Given the description of an element on the screen output the (x, y) to click on. 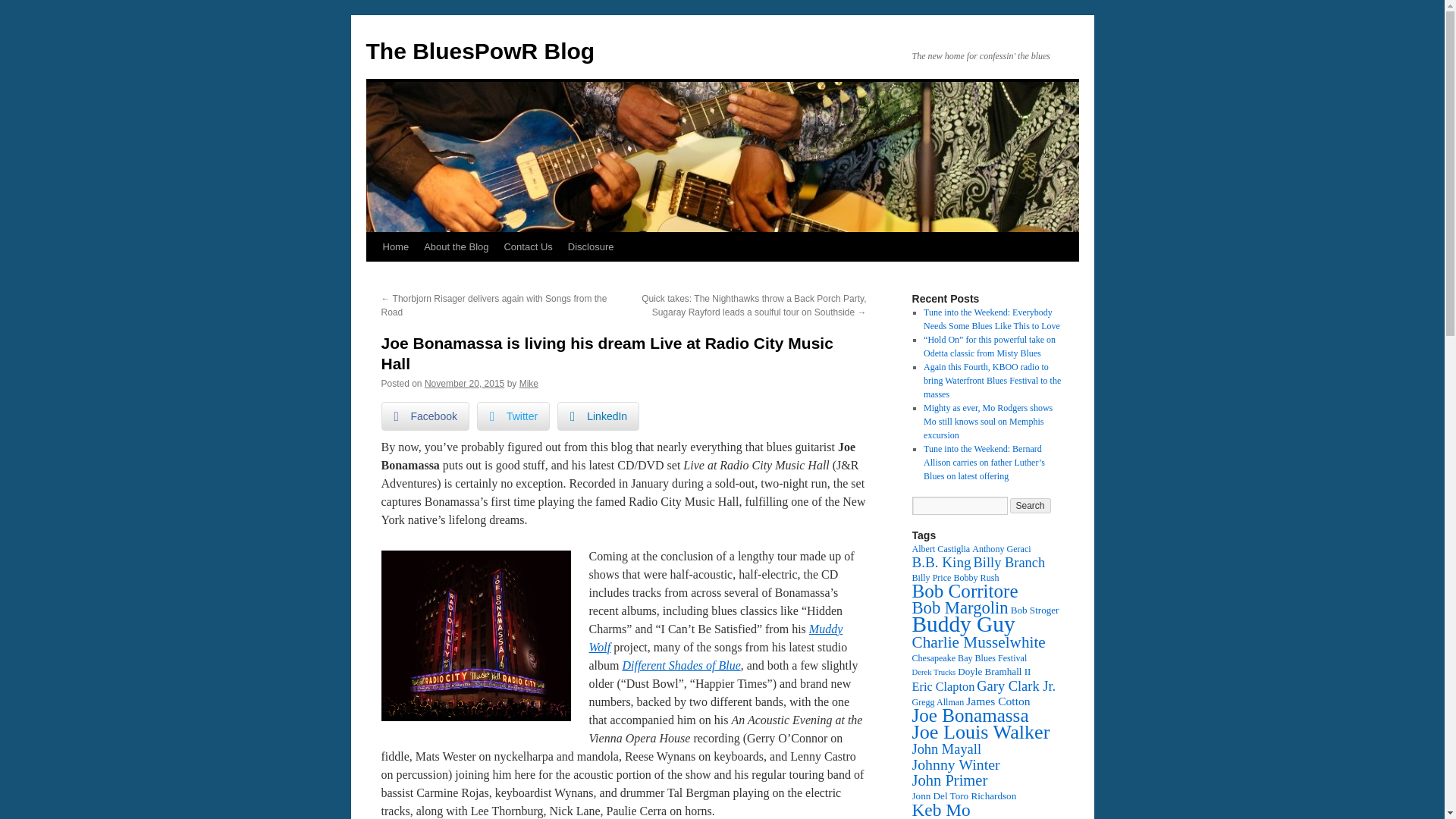
Search (1030, 505)
The BluesPowR Blog (479, 50)
View all posts by Mike (528, 383)
Search (1030, 505)
Bob Corritore (964, 590)
LinkedIn (598, 416)
Home (395, 246)
Anthony Geraci (1001, 548)
Disclosure (590, 246)
Billy Branch (1009, 562)
Billy Price (930, 577)
5:32 am (464, 383)
